Given the description of an element on the screen output the (x, y) to click on. 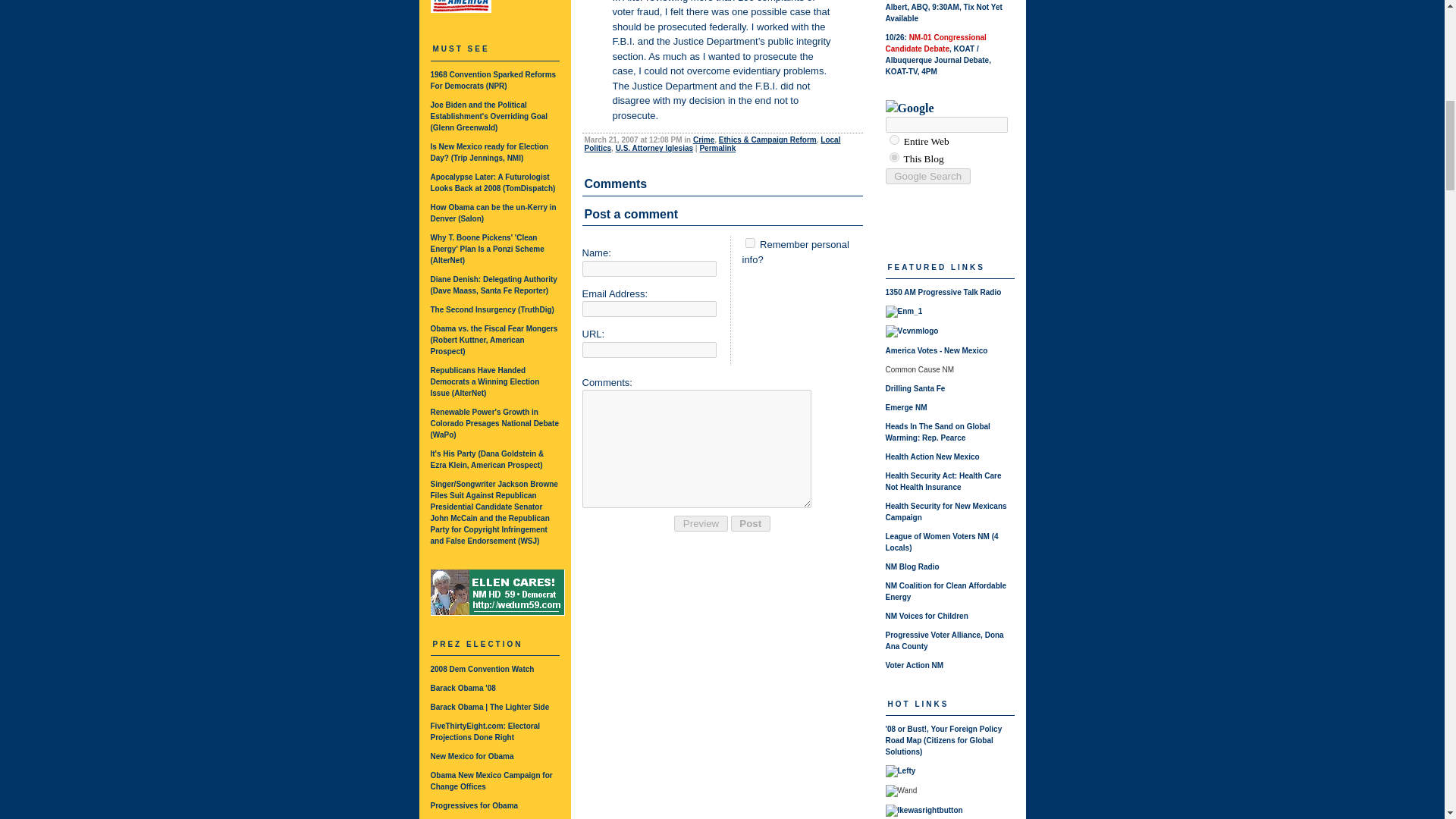
 Google Search  (928, 176)
democracyfornewmexico.com (893, 157)
New Mexico for Obama (471, 756)
2008 Dem Convention Watch (482, 669)
Barack Obama '08 (463, 687)
Obama New Mexico Campaign for Change Offices (491, 781)
democracyfornewmexico.com (893, 139)
FiveThirtyEight.com: Electoral Projections Done Right (485, 731)
1 (749, 243)
